Given the description of an element on the screen output the (x, y) to click on. 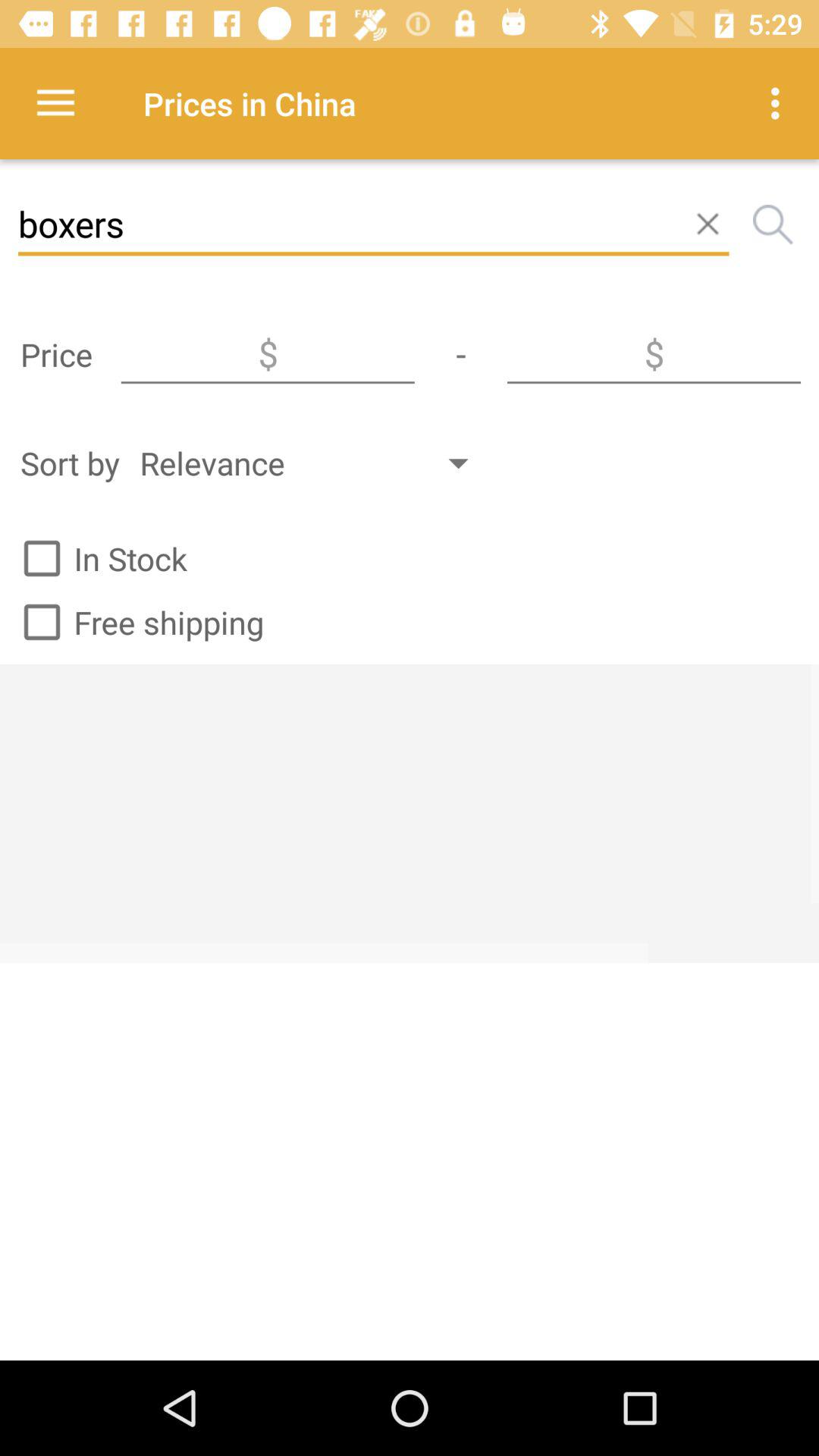
launch the in stock (98, 558)
